Given the description of an element on the screen output the (x, y) to click on. 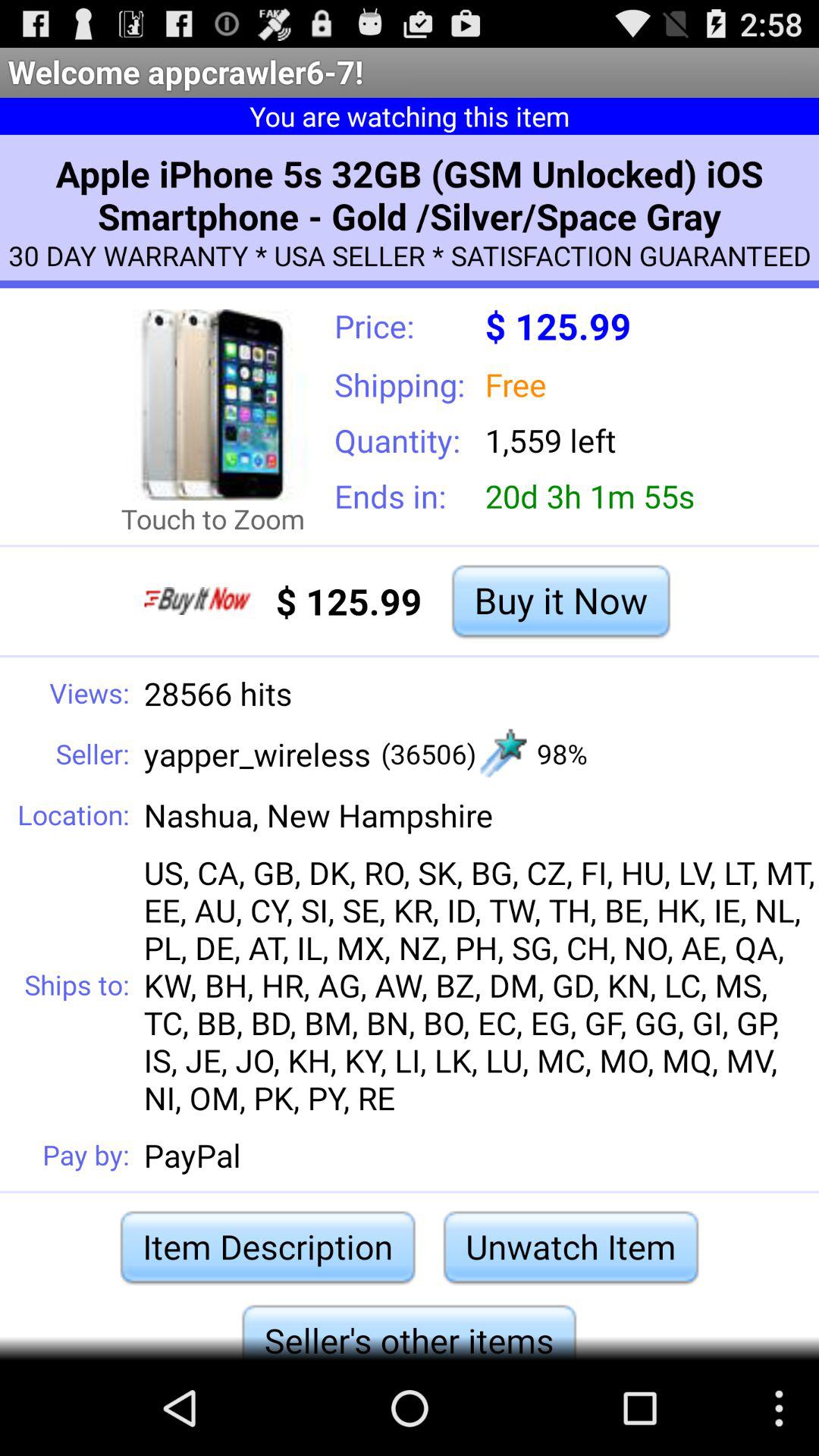
turn on the icon next to item description item (570, 1247)
